Given the description of an element on the screen output the (x, y) to click on. 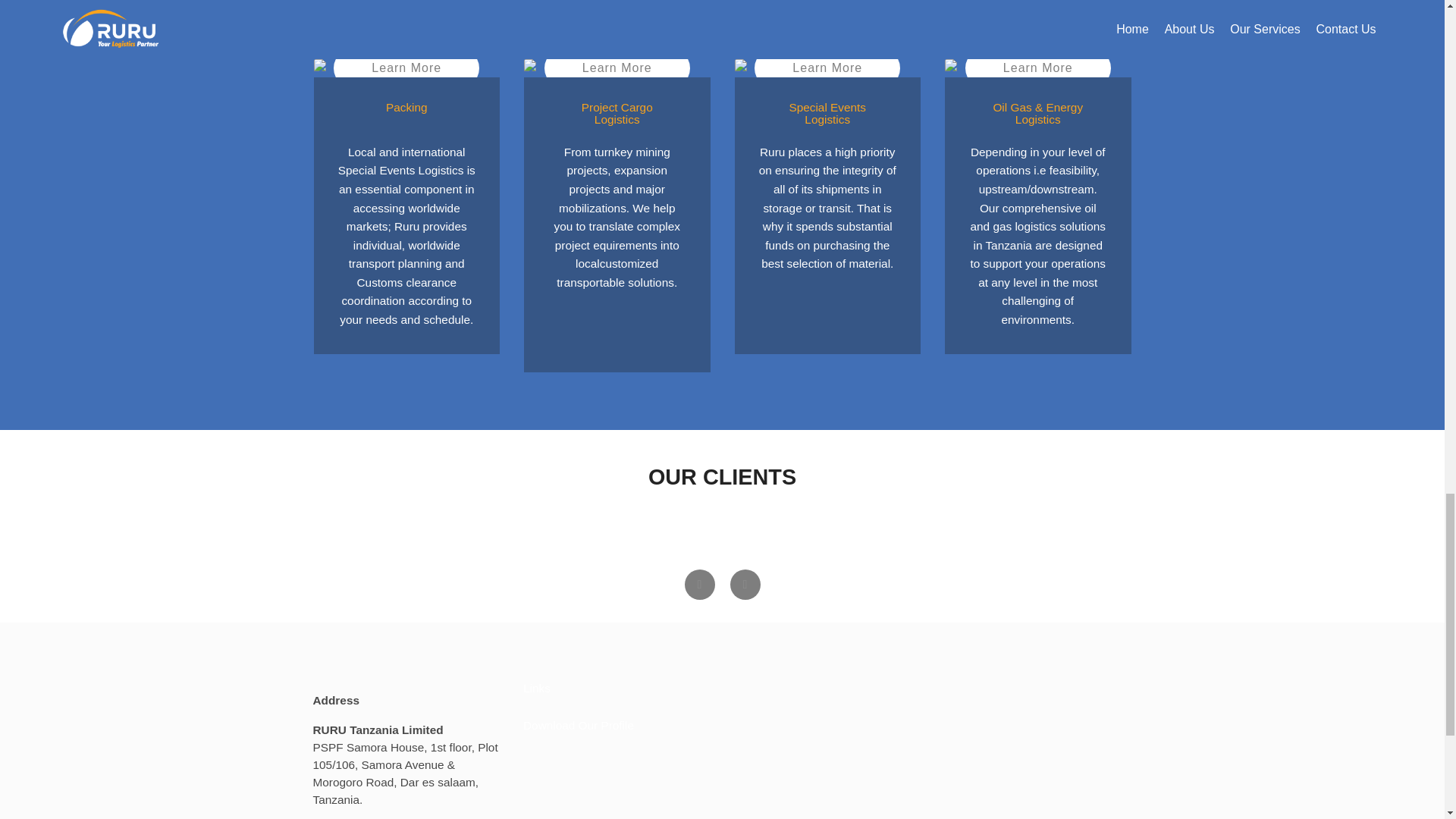
Learn More (826, 67)
Learn More (406, 67)
Download Our Profile (577, 725)
Special Events (826, 67)
Links (536, 687)
Packing (407, 67)
Project Cargo (617, 67)
Next (744, 584)
Previous (699, 584)
Learn More (617, 67)
Learn More (1037, 67)
